Given the description of an element on the screen output the (x, y) to click on. 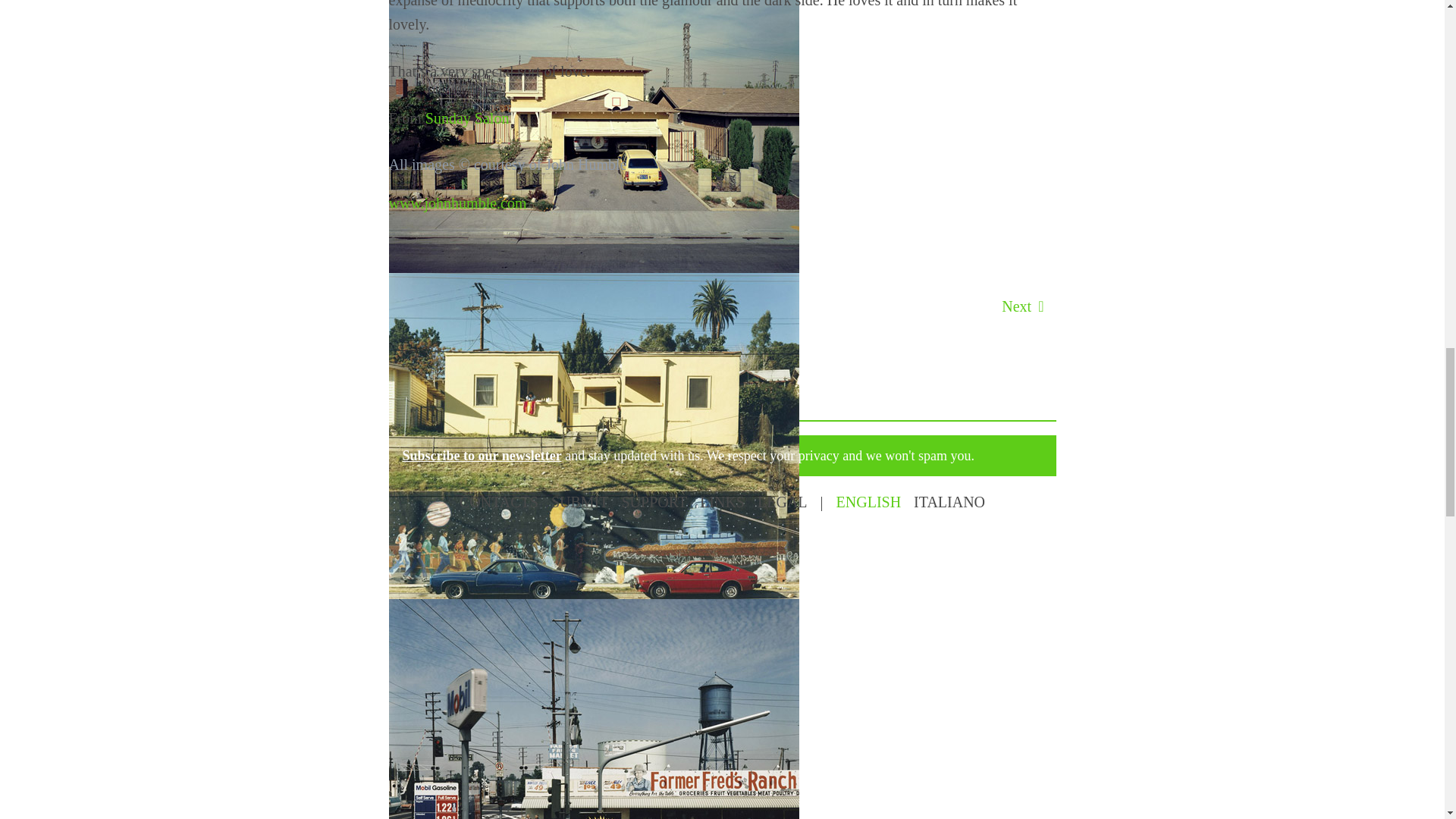
Sunday Salon (467, 117)
www.johnhumble.com (456, 202)
SUPPORT (654, 501)
SUBMIT (579, 501)
Subscribe to our newsletter (480, 455)
CONTACTS (499, 501)
LINKS (722, 501)
Previous (432, 306)
